Given the description of an element on the screen output the (x, y) to click on. 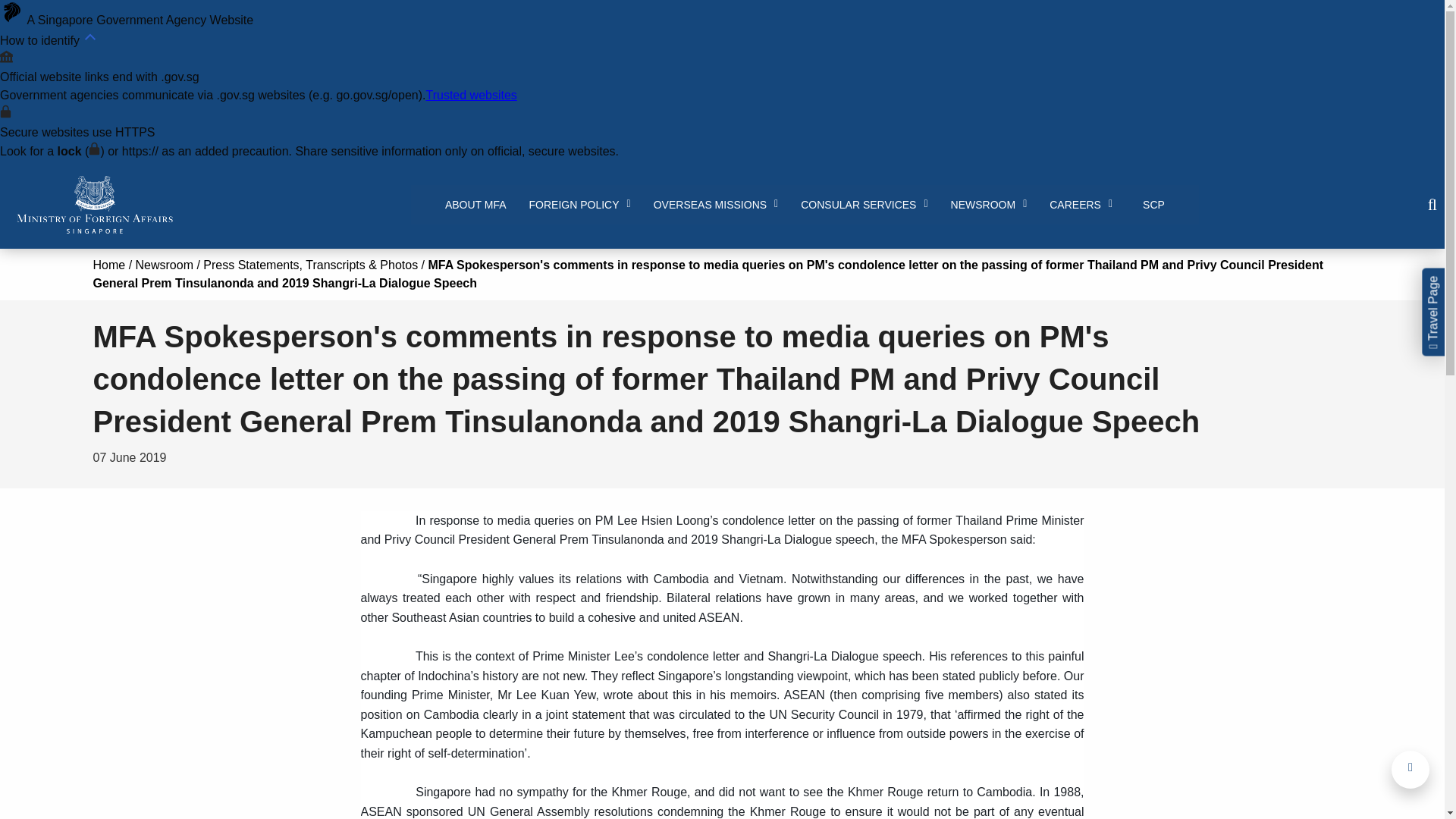
ABOUT MFA (475, 204)
Back to top of page (1410, 769)
OVERSEAS MISSIONS (716, 204)
CAREERS (1081, 204)
Ministry of Foreign Affairs Singapore (94, 204)
NEWSROOM (989, 204)
FOREIGN POLICY (580, 204)
CONSULAR SERVICES (864, 204)
